Given the description of an element on the screen output the (x, y) to click on. 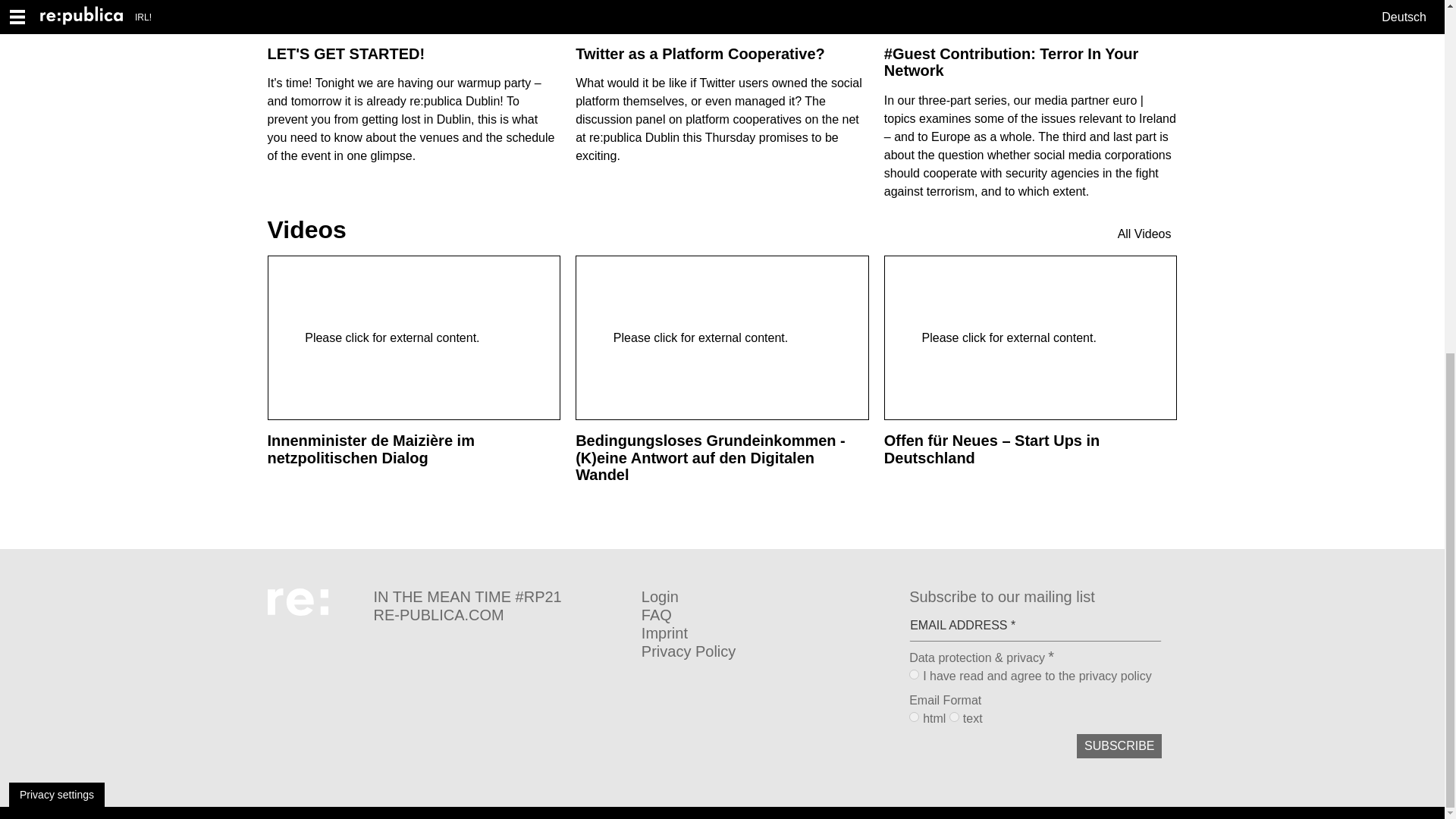
More info (289, 229)
Subscribe (1119, 745)
text (954, 716)
LET'S GET STARTED! (345, 53)
Twitter as a Platform Cooperative? (700, 53)
Accept (1318, 220)
No, thanks (1383, 220)
Privacy settings (56, 178)
html (913, 716)
re:publica global site (499, 614)
